Given the description of an element on the screen output the (x, y) to click on. 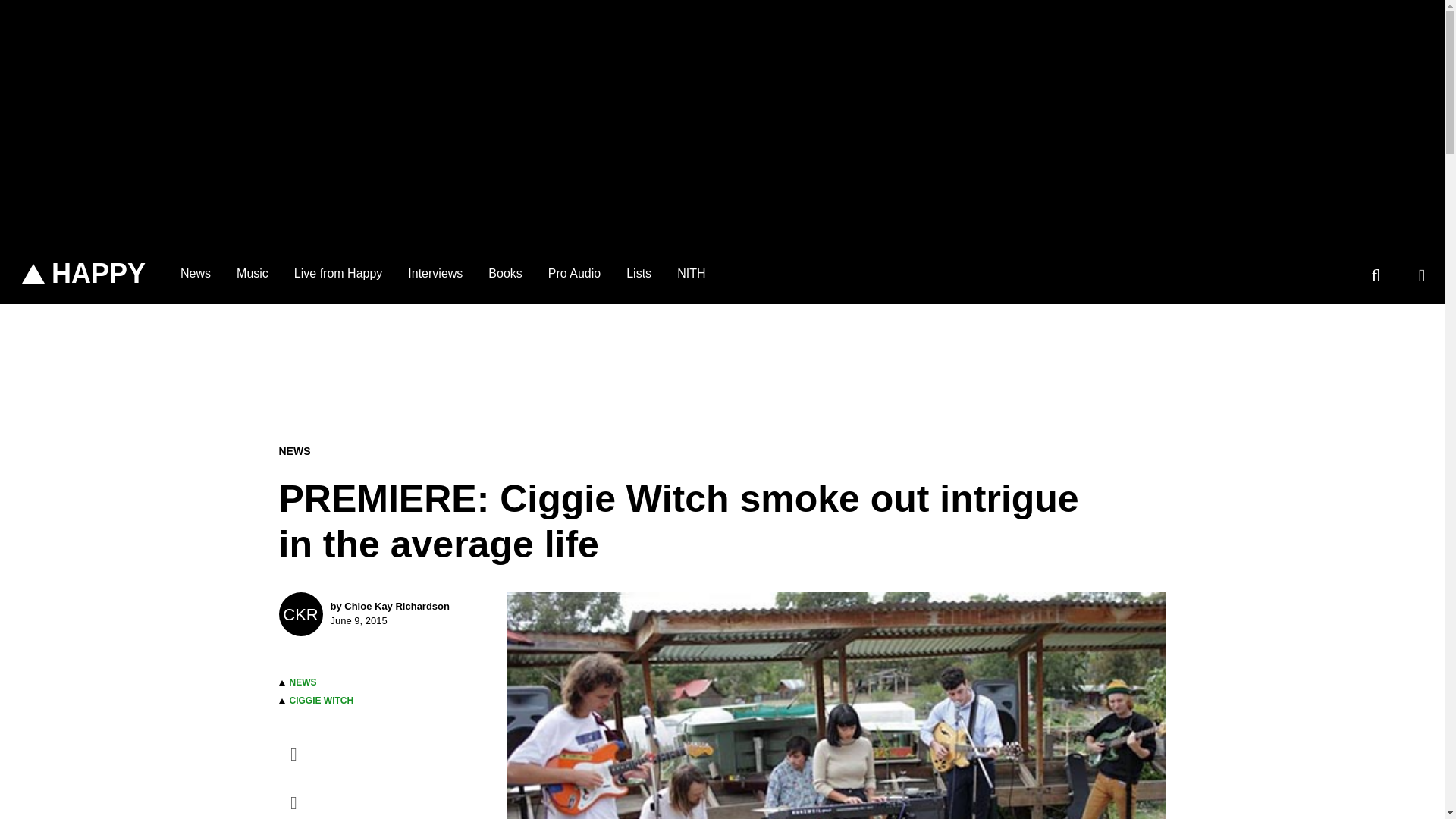
Pro Audio (573, 273)
Interviews (435, 273)
HAPPY (83, 273)
CIGGIE WITCH (321, 700)
NEWS (303, 682)
News (195, 273)
News (195, 273)
Music (252, 273)
Books (505, 273)
Live from Happy (338, 273)
